Given the description of an element on the screen output the (x, y) to click on. 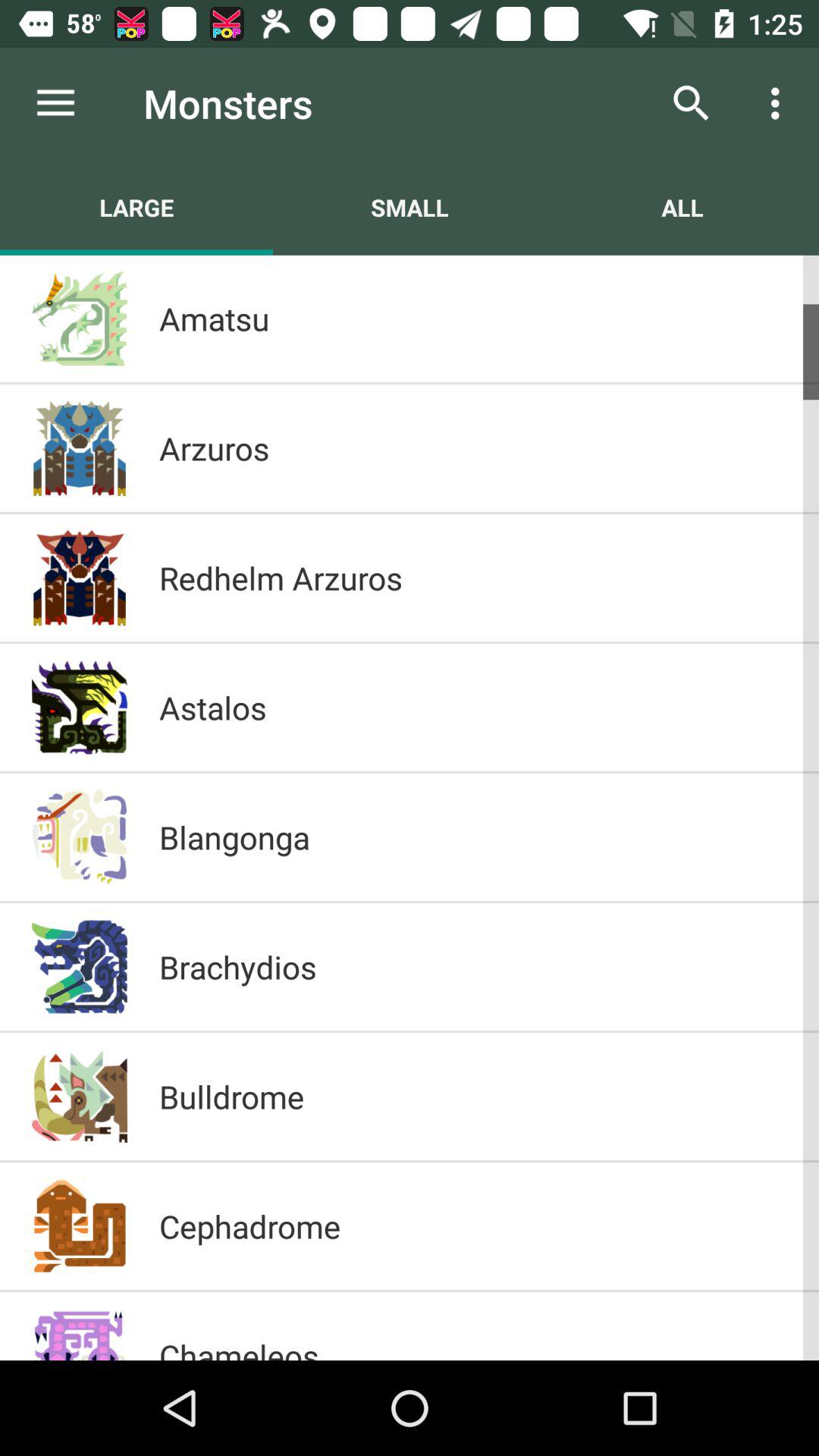
open app above the large app (55, 103)
